Given the description of an element on the screen output the (x, y) to click on. 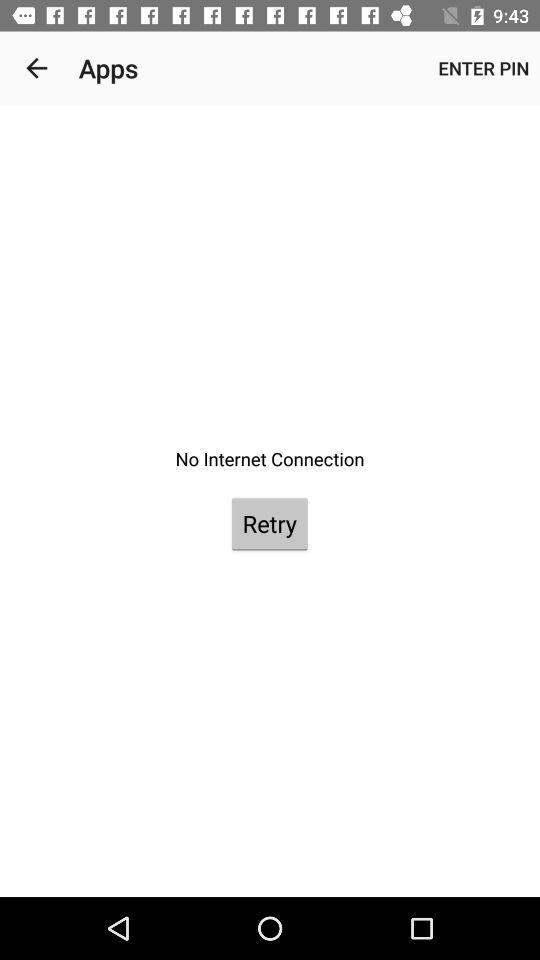
scroll to the retry (269, 523)
